Given the description of an element on the screen output the (x, y) to click on. 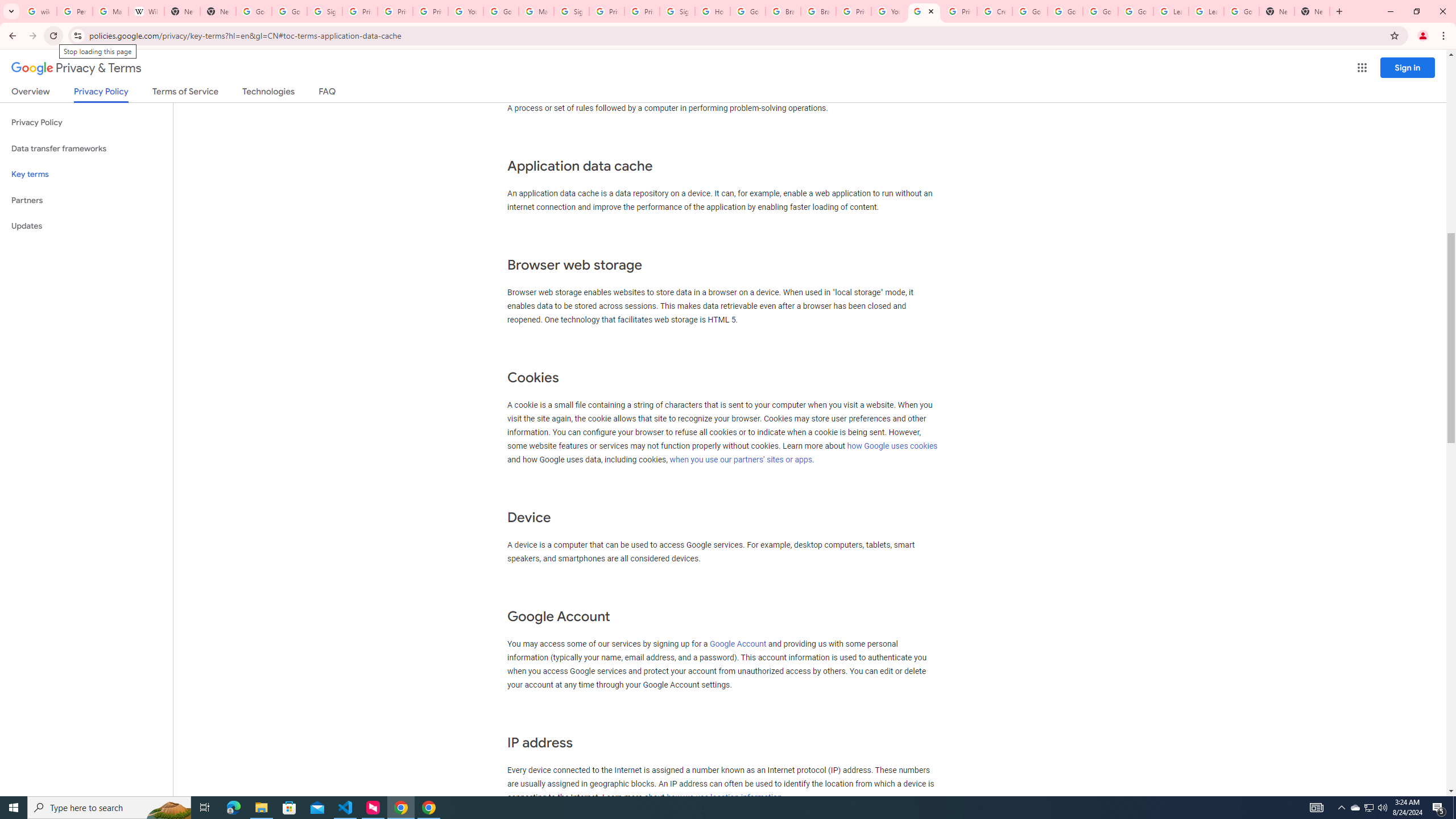
Google Account (738, 643)
Brand Resource Center (783, 11)
New Tab (1276, 11)
Google Account (1240, 11)
Google Account Help (1064, 11)
